Given the description of an element on the screen output the (x, y) to click on. 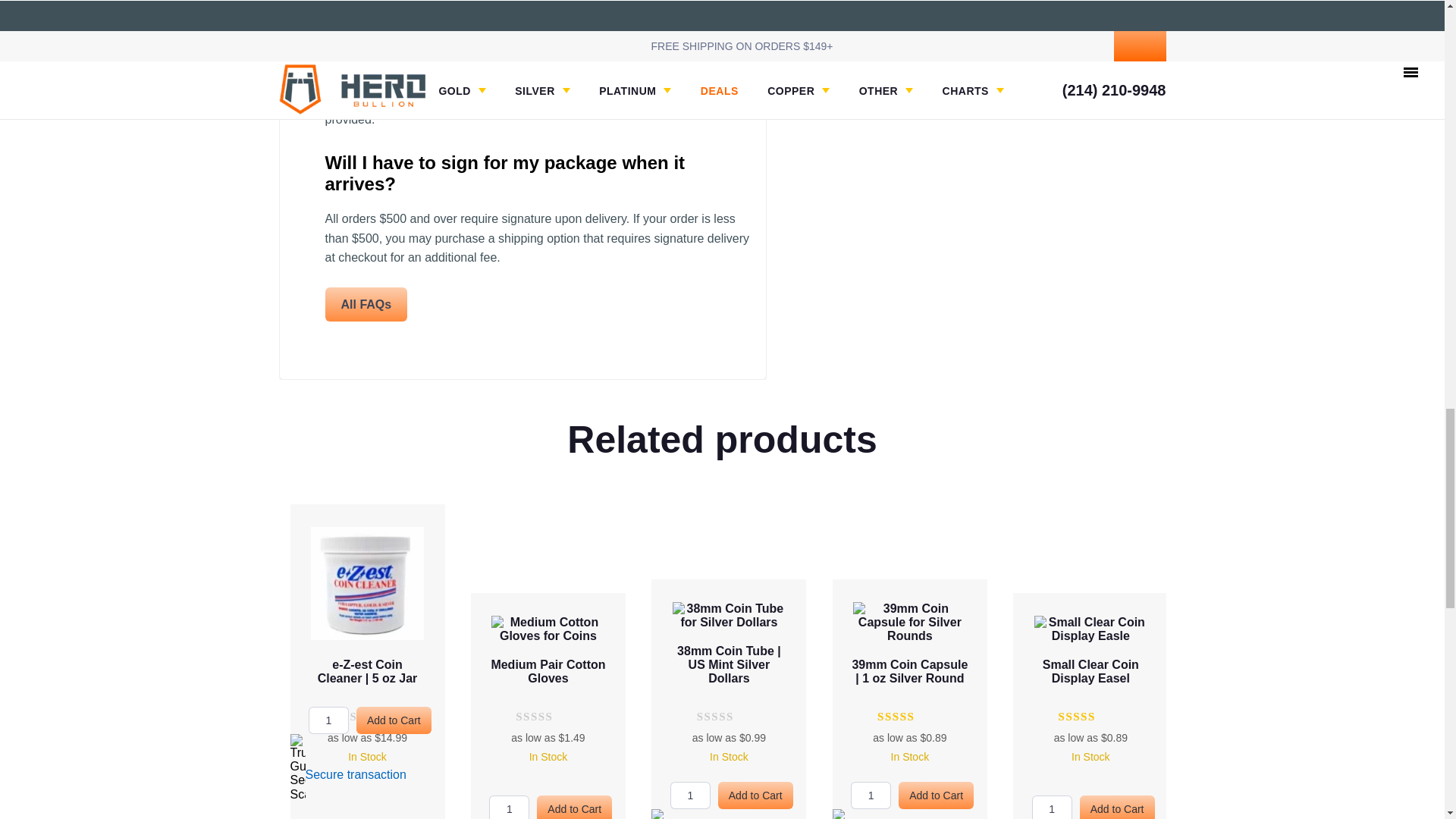
1 (870, 795)
1 (509, 807)
1 (1051, 807)
1 (328, 719)
1 (689, 795)
